Given the description of an element on the screen output the (x, y) to click on. 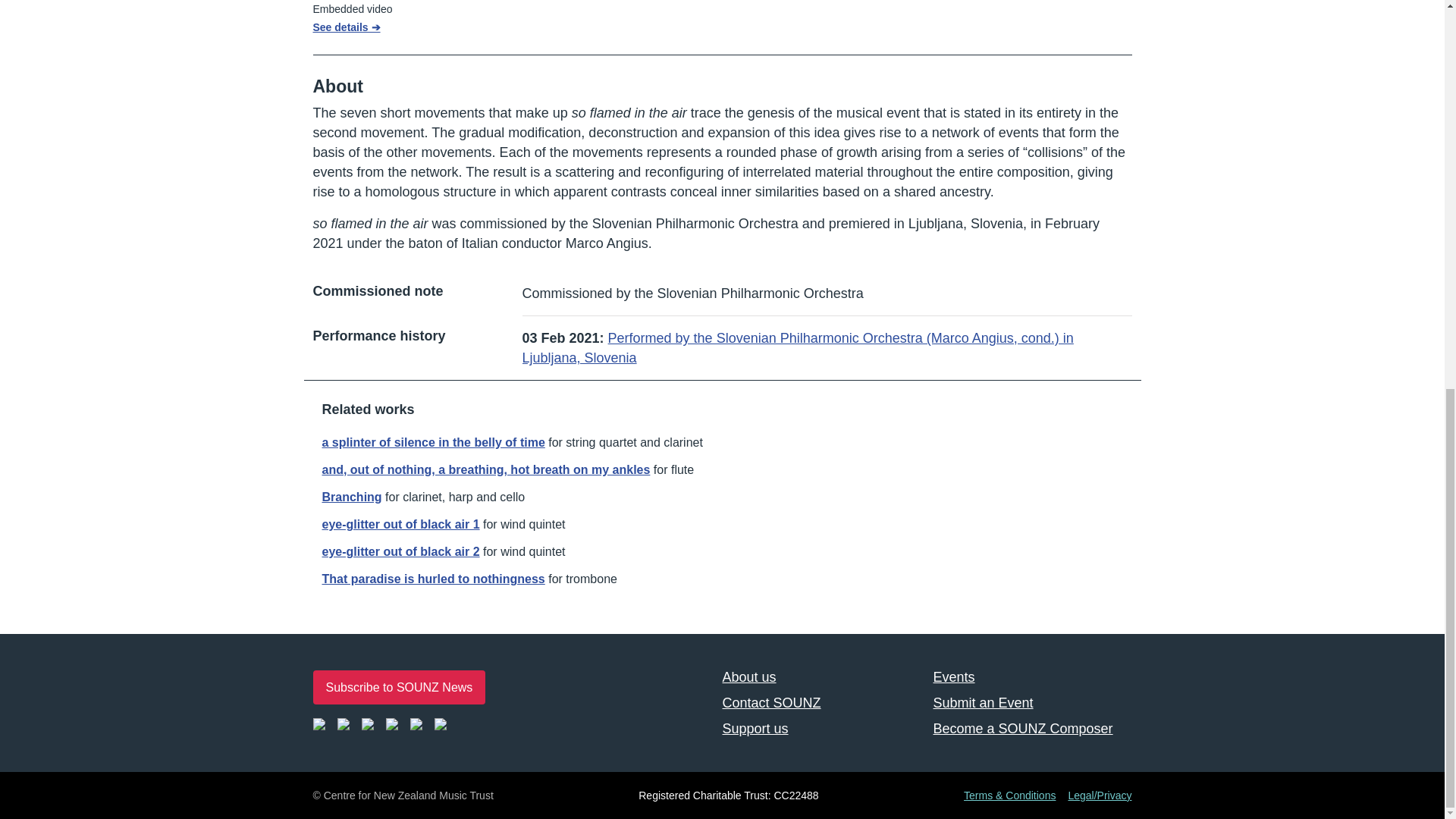
eye-glitter out of black air 2 (400, 551)
Subscribe to SOUNZ News (398, 687)
eye-glitter out of black air 1 (400, 523)
That paradise is hurled to nothingness (432, 578)
a splinter of silence in the belly of time (432, 441)
Branching (351, 496)
and, out of nothing, a breathing, hot breath on my ankles (485, 469)
About us (821, 676)
Contact SOUNZ (821, 703)
